Given the description of an element on the screen output the (x, y) to click on. 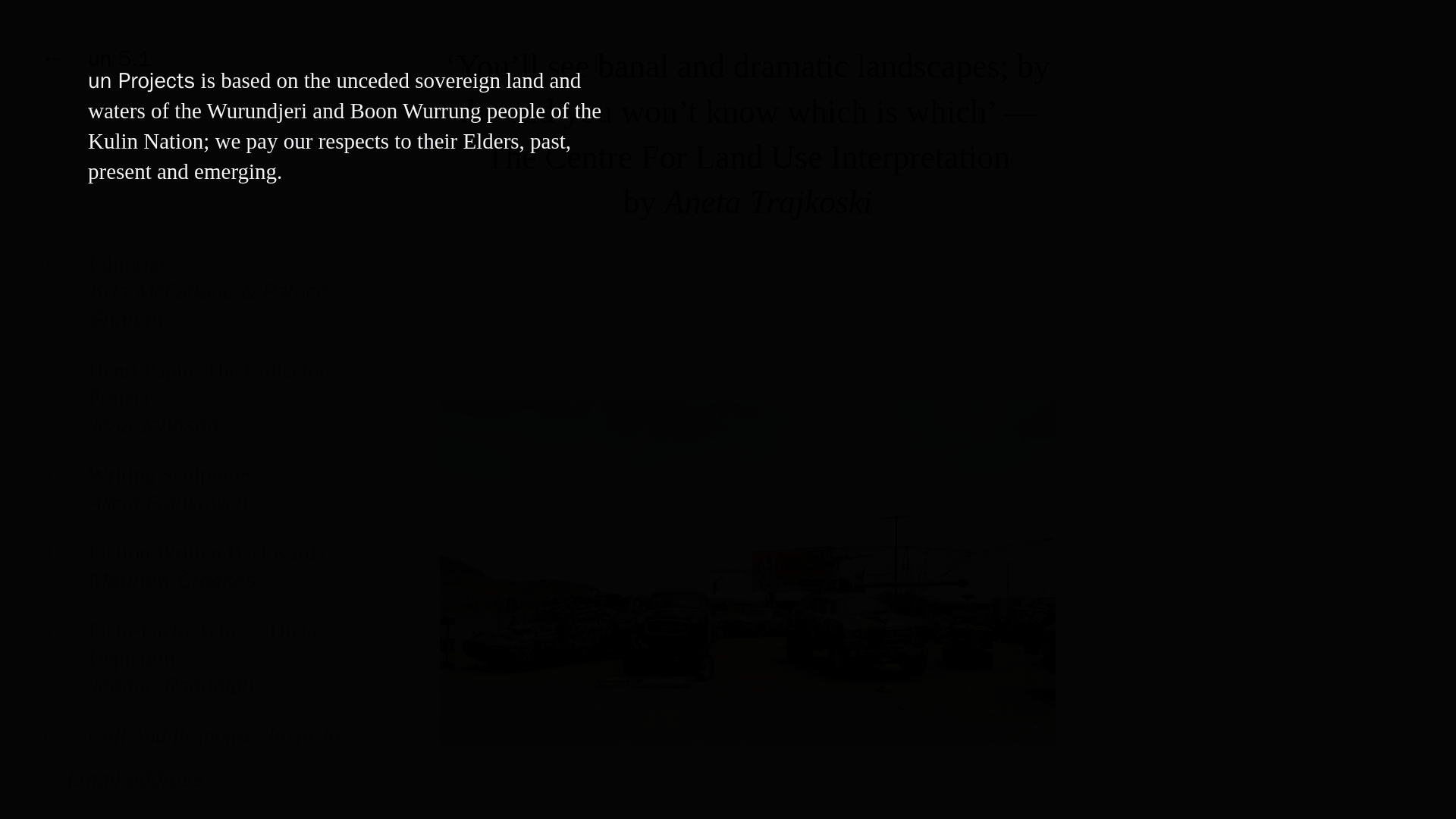
Posts by Aneta Trajkoski (767, 201)
Aneta Trajkoski (767, 201)
